Given the description of an element on the screen output the (x, y) to click on. 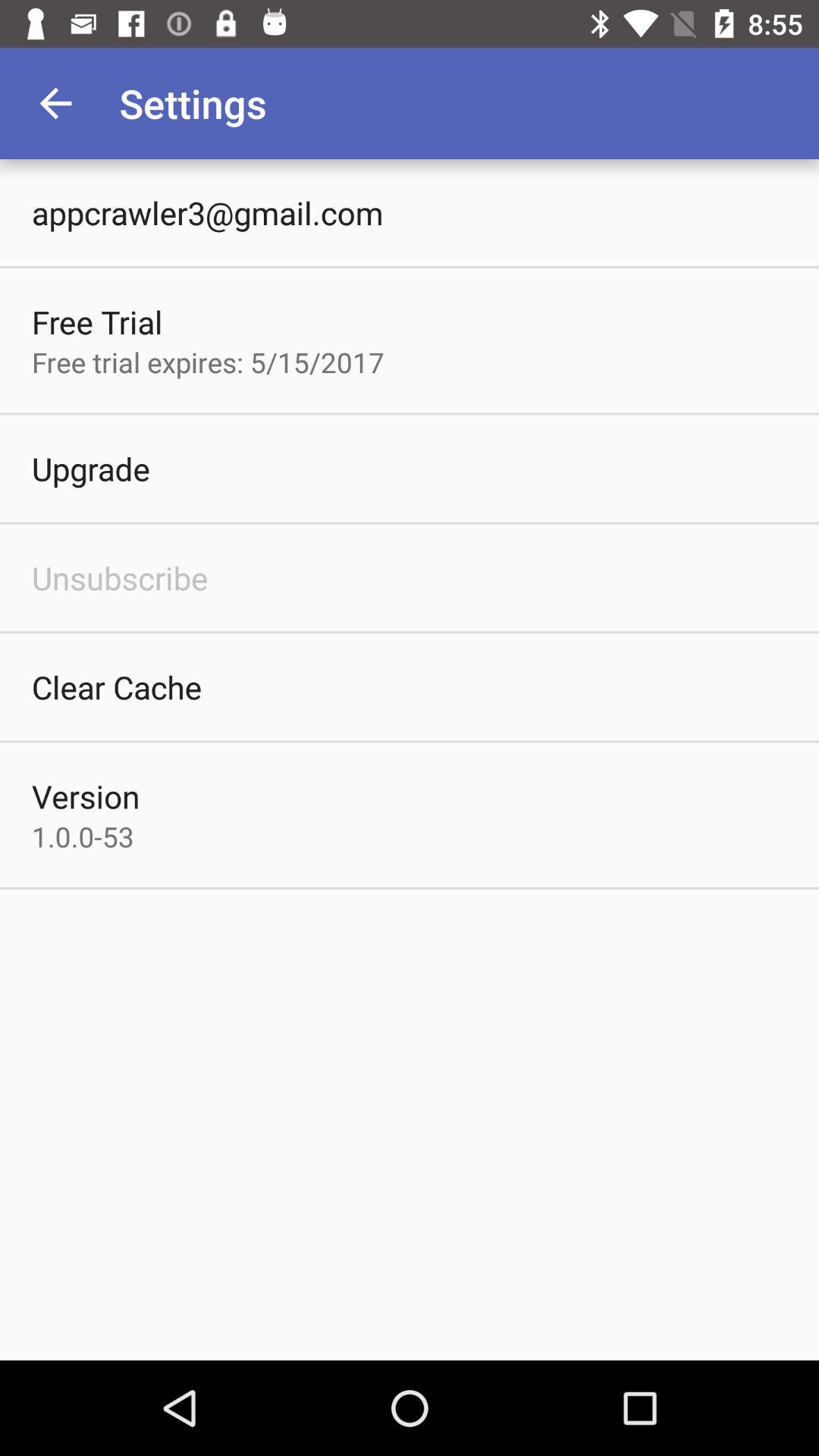
select icon above the clear cache icon (119, 577)
